Given the description of an element on the screen output the (x, y) to click on. 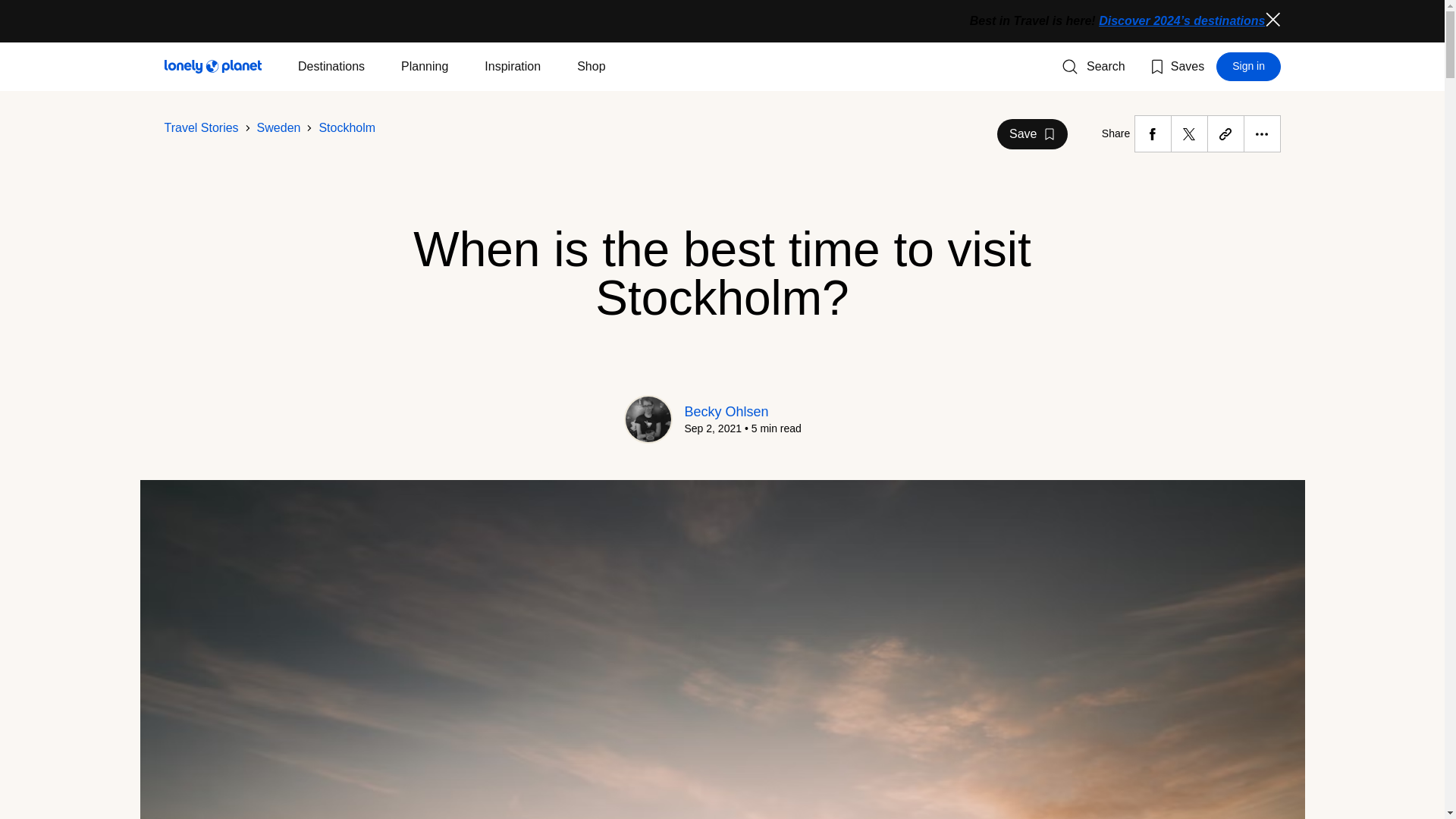
Inspiration (1032, 132)
Destinations (512, 66)
Sweden (330, 66)
Search (279, 126)
Becky Ohlsen (1093, 66)
Stockholm (726, 411)
Lonely Planet (346, 126)
Saves (211, 66)
Close alert (1176, 66)
Planning (1272, 19)
Travel Stories (1248, 66)
